Given the description of an element on the screen output the (x, y) to click on. 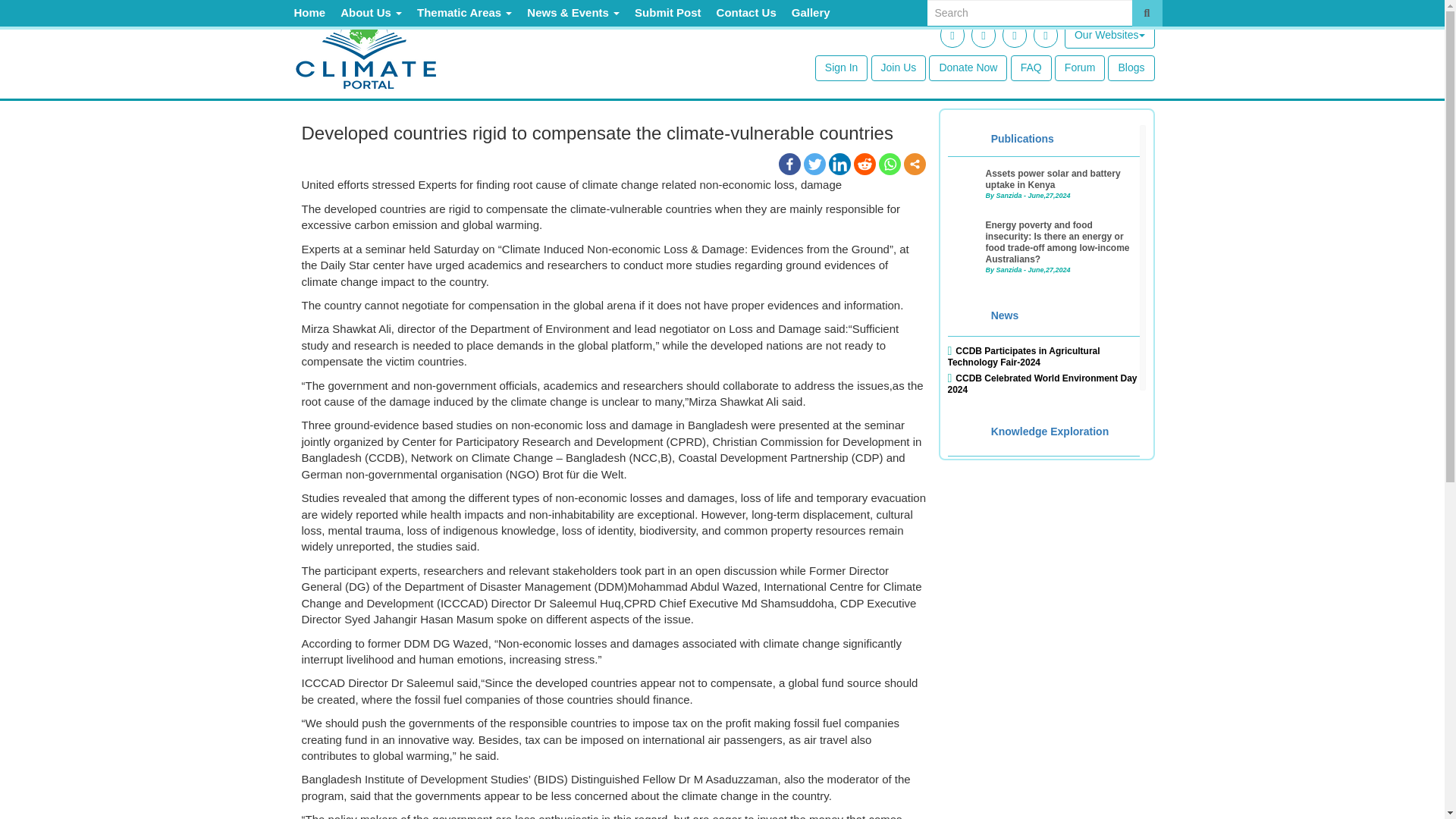
FAQ (1030, 68)
Forum (1079, 68)
Blogs (1131, 68)
Donate Now (967, 68)
Sign In (841, 68)
Contact Us (746, 12)
Join Us (898, 68)
About Us (371, 12)
Submit Post (668, 12)
About Us (371, 12)
Thematic Areas (464, 12)
Our Websites (1109, 35)
Thematic Areas (464, 12)
Home (309, 12)
Gallery (811, 12)
